Given the description of an element on the screen output the (x, y) to click on. 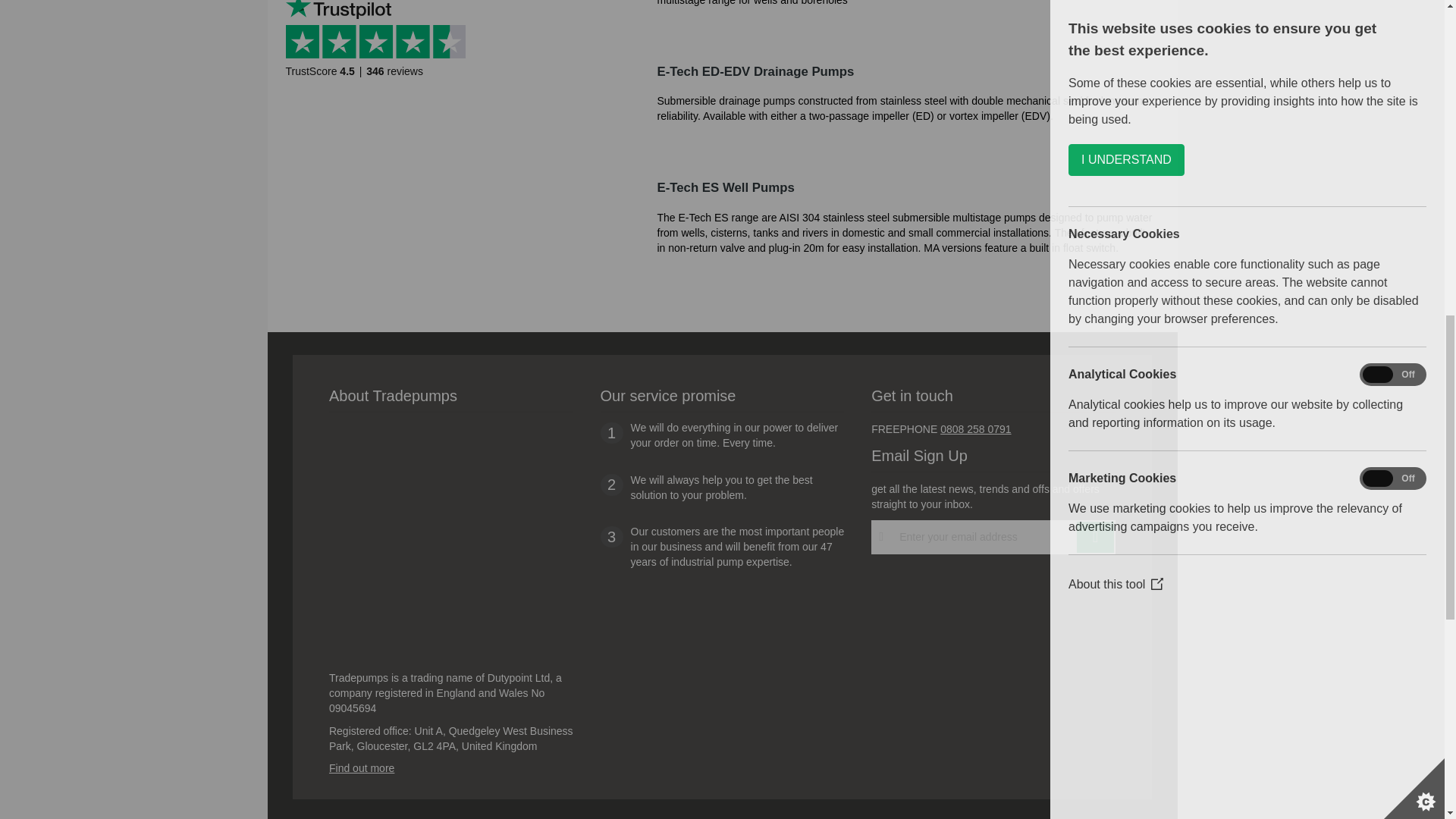
E-Tech ES Well Pumps (839, 212)
Customer reviews powered by Trustpilot (380, 53)
E-Tech Submersible Drainage and Multistage Pumps (839, 15)
E-Tech ED-EDV Drainage Pumps (839, 89)
